Given the description of an element on the screen output the (x, y) to click on. 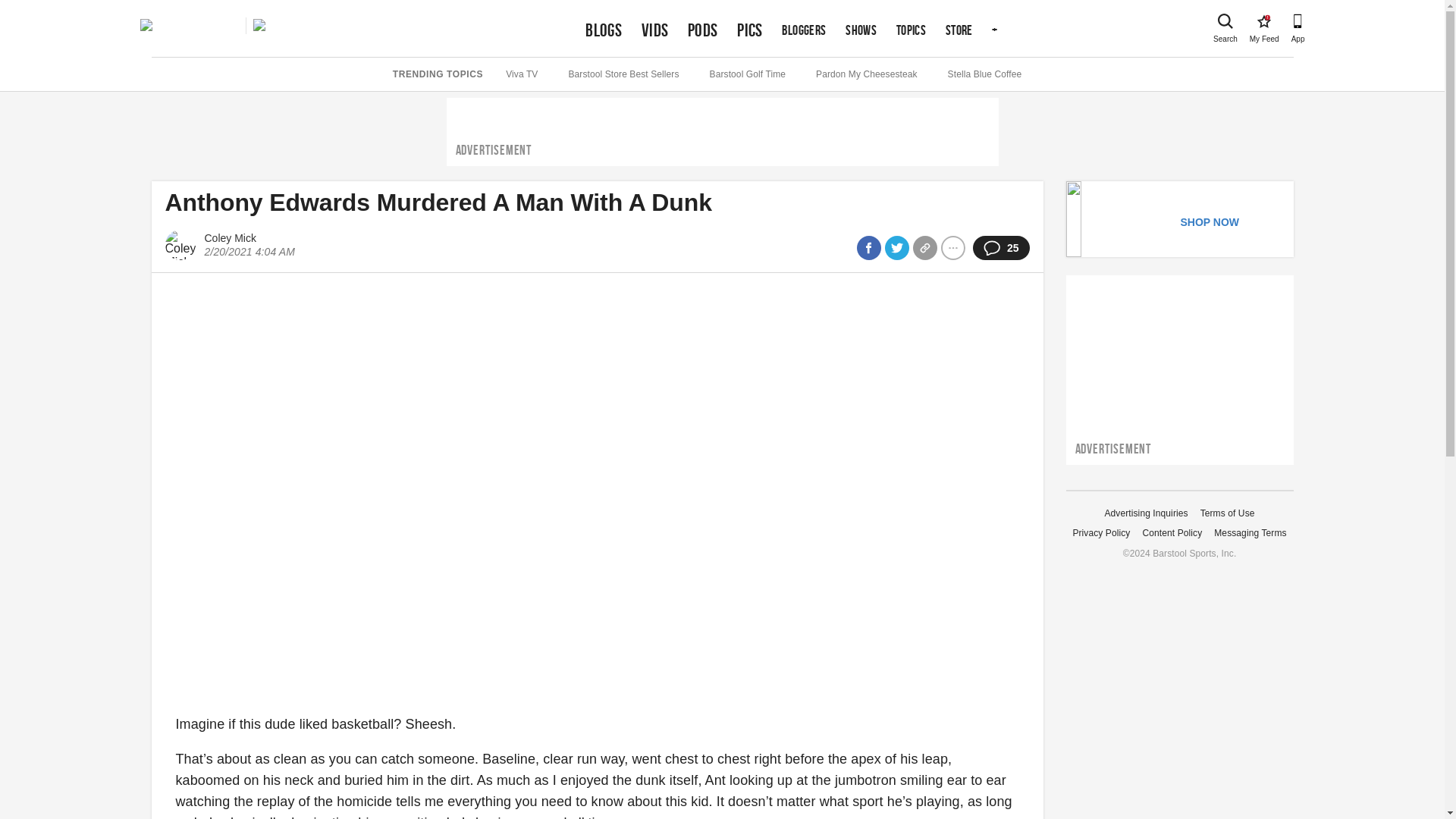
PICS (748, 30)
SHOWS (860, 30)
BLOGGERS (804, 30)
Search (1225, 20)
TOPICS (911, 30)
VIDS (654, 30)
STORE (1263, 20)
BLOGS (959, 30)
PODS (603, 30)
